Given the description of an element on the screen output the (x, y) to click on. 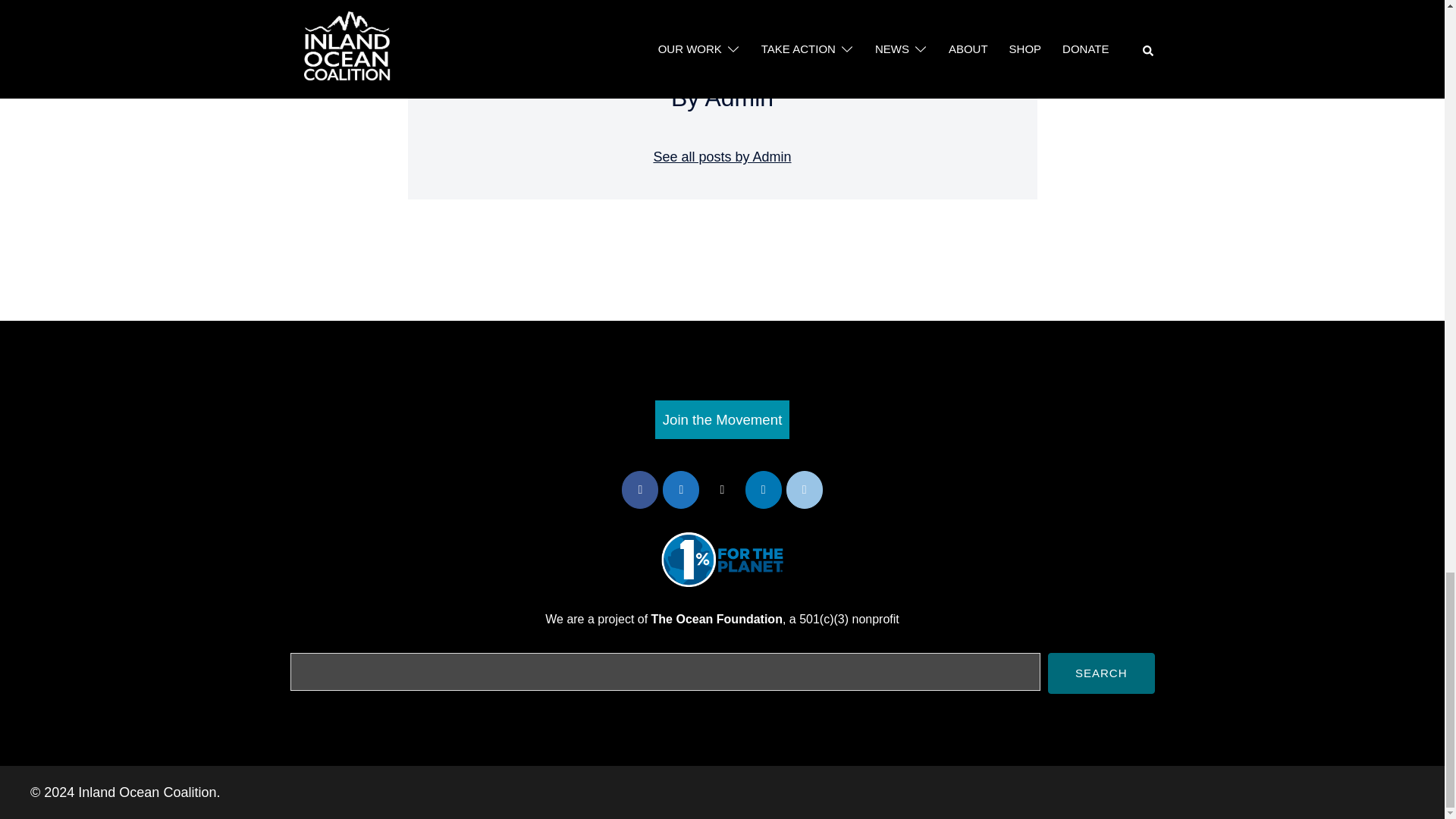
Inland Ocean Coalition on Facebook (639, 489)
Inland Ocean Coalition on Instagram (680, 489)
Inland Ocean Coalition on Envelope (804, 489)
Inland Ocean Coalition on X Twitter (721, 489)
Inland Ocean Coalition on Linkedin (763, 489)
